Given the description of an element on the screen output the (x, y) to click on. 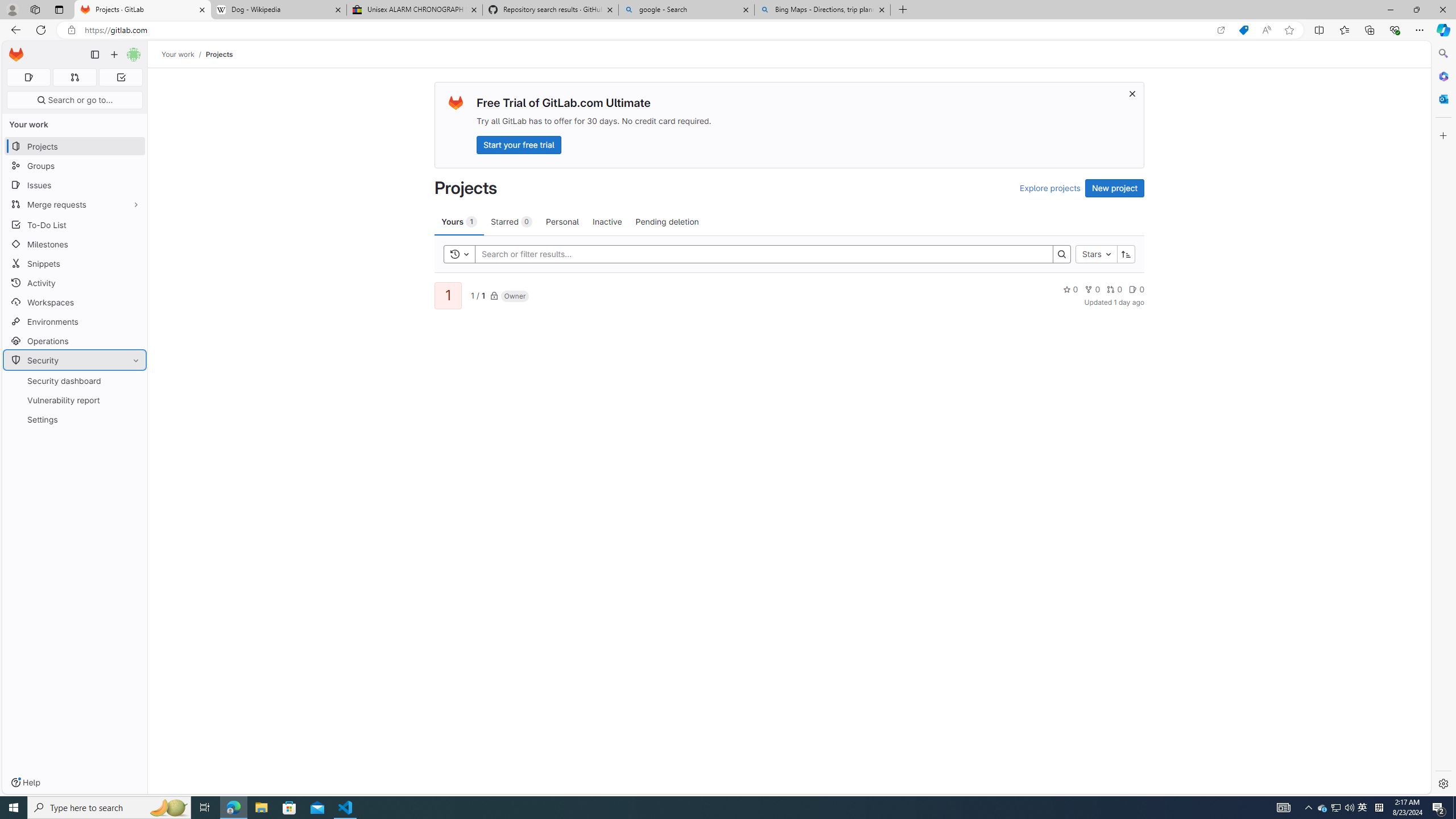
Assigned issues 0 (28, 76)
Primary navigation sidebar (94, 54)
Your work (178, 53)
Dismiss trial promotion (1131, 93)
Issues (74, 185)
Sort direction: Ascending (1125, 253)
Merge requests (74, 203)
Security dashboard (74, 380)
New project (1114, 187)
Projects (218, 53)
